Given the description of an element on the screen output the (x, y) to click on. 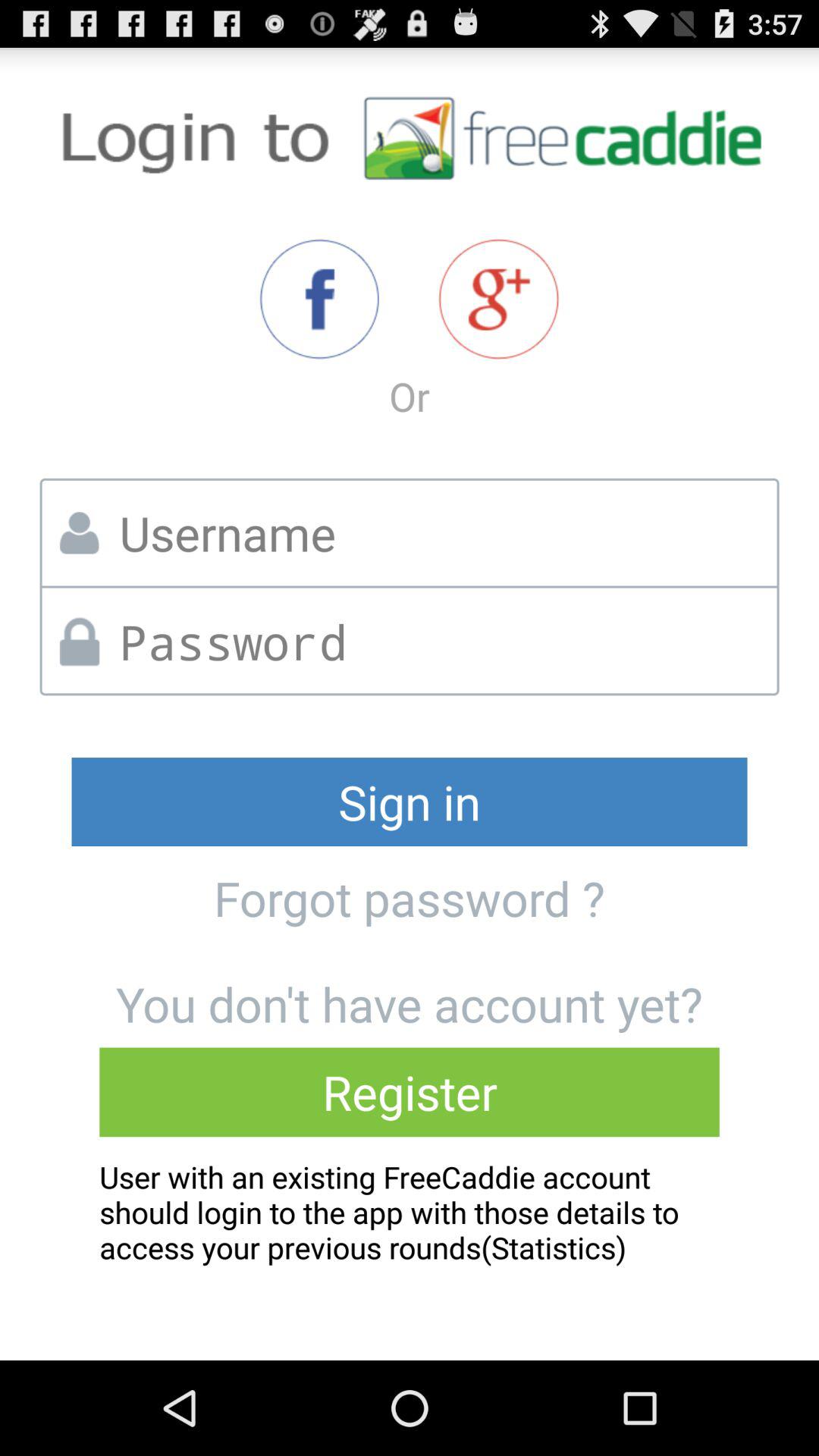
sign in option (498, 298)
